Given the description of an element on the screen output the (x, y) to click on. 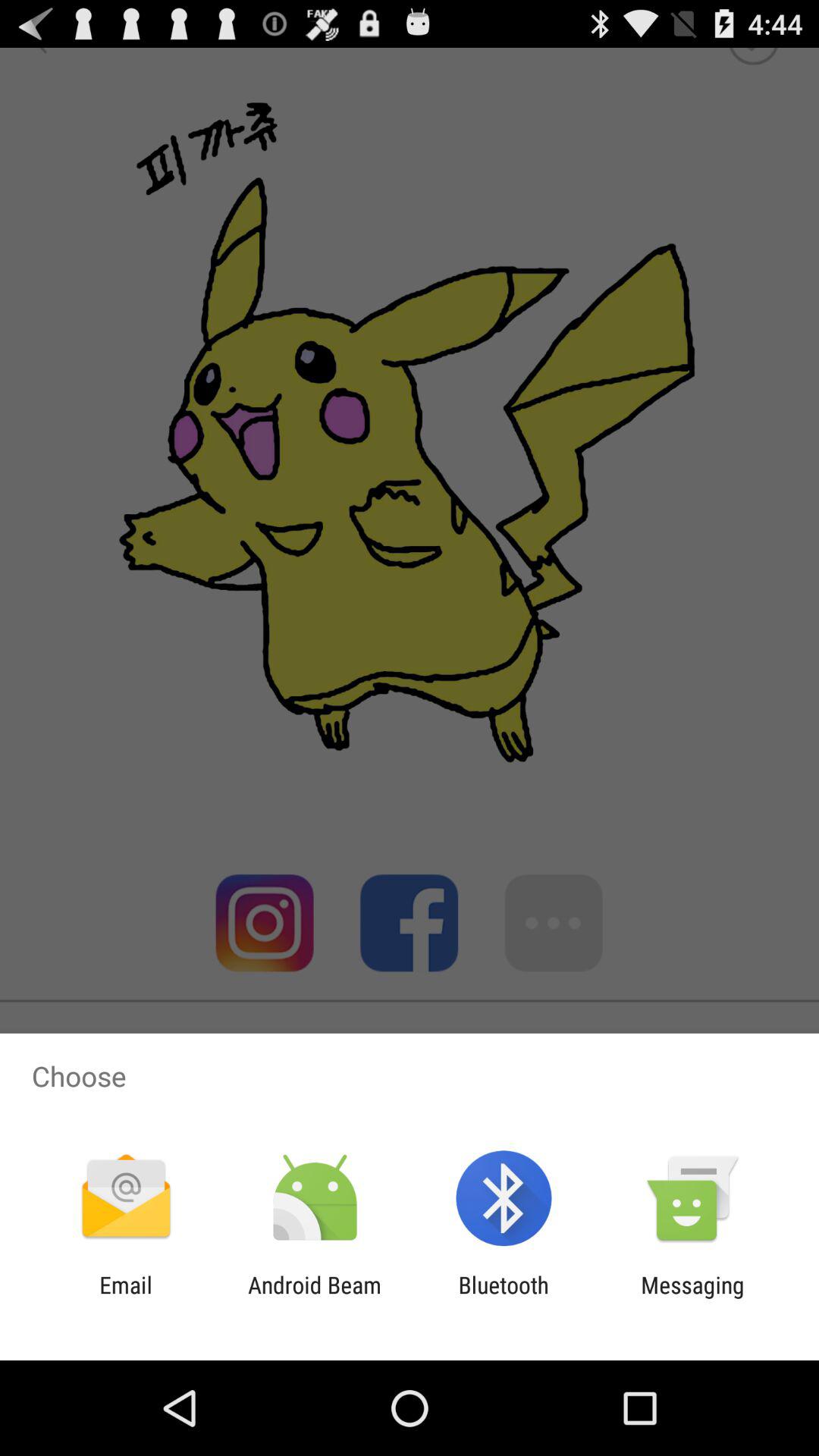
jump to the messaging item (692, 1298)
